Given the description of an element on the screen output the (x, y) to click on. 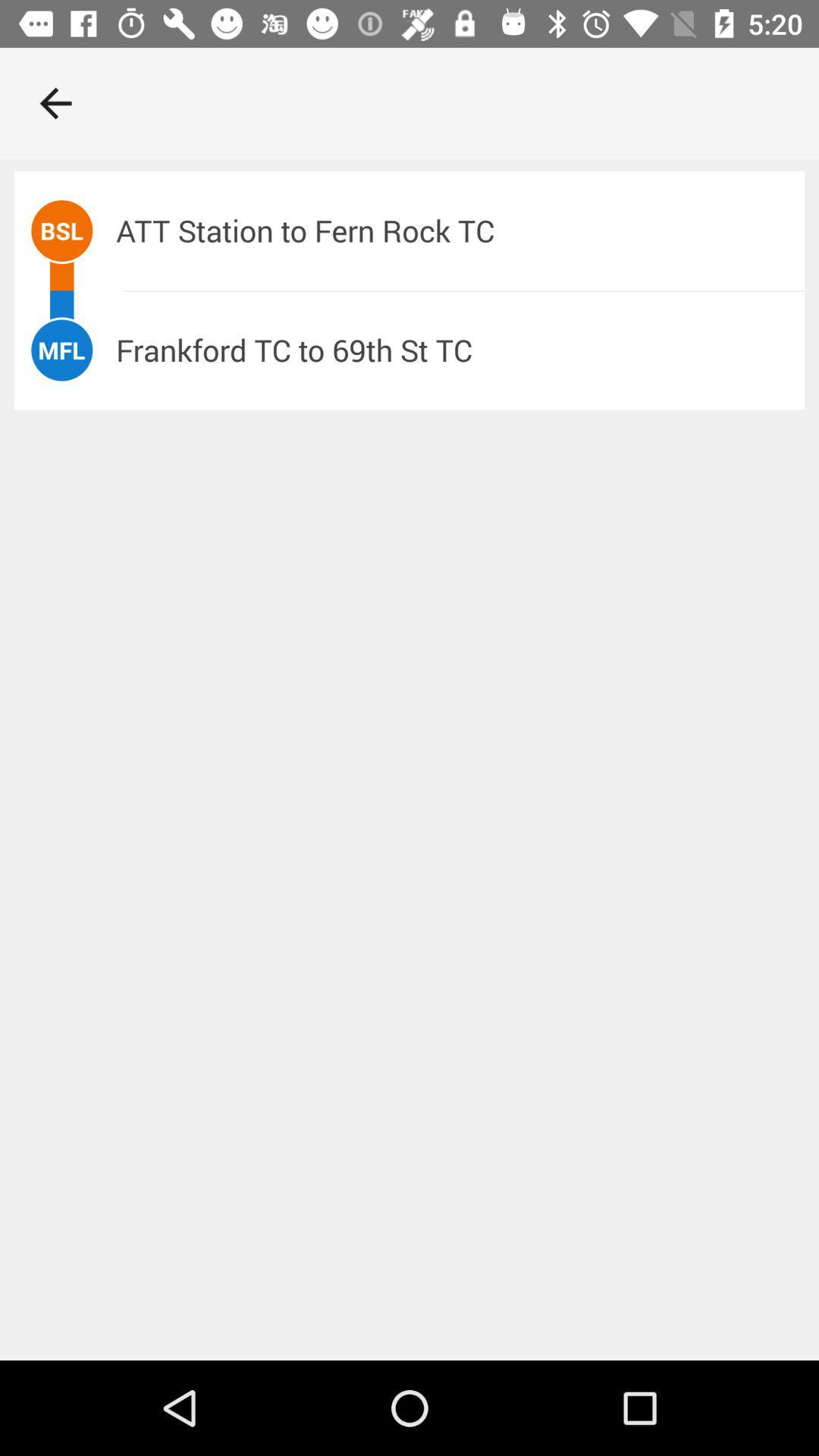
tap the item next to att station to icon (61, 230)
